Given the description of an element on the screen output the (x, y) to click on. 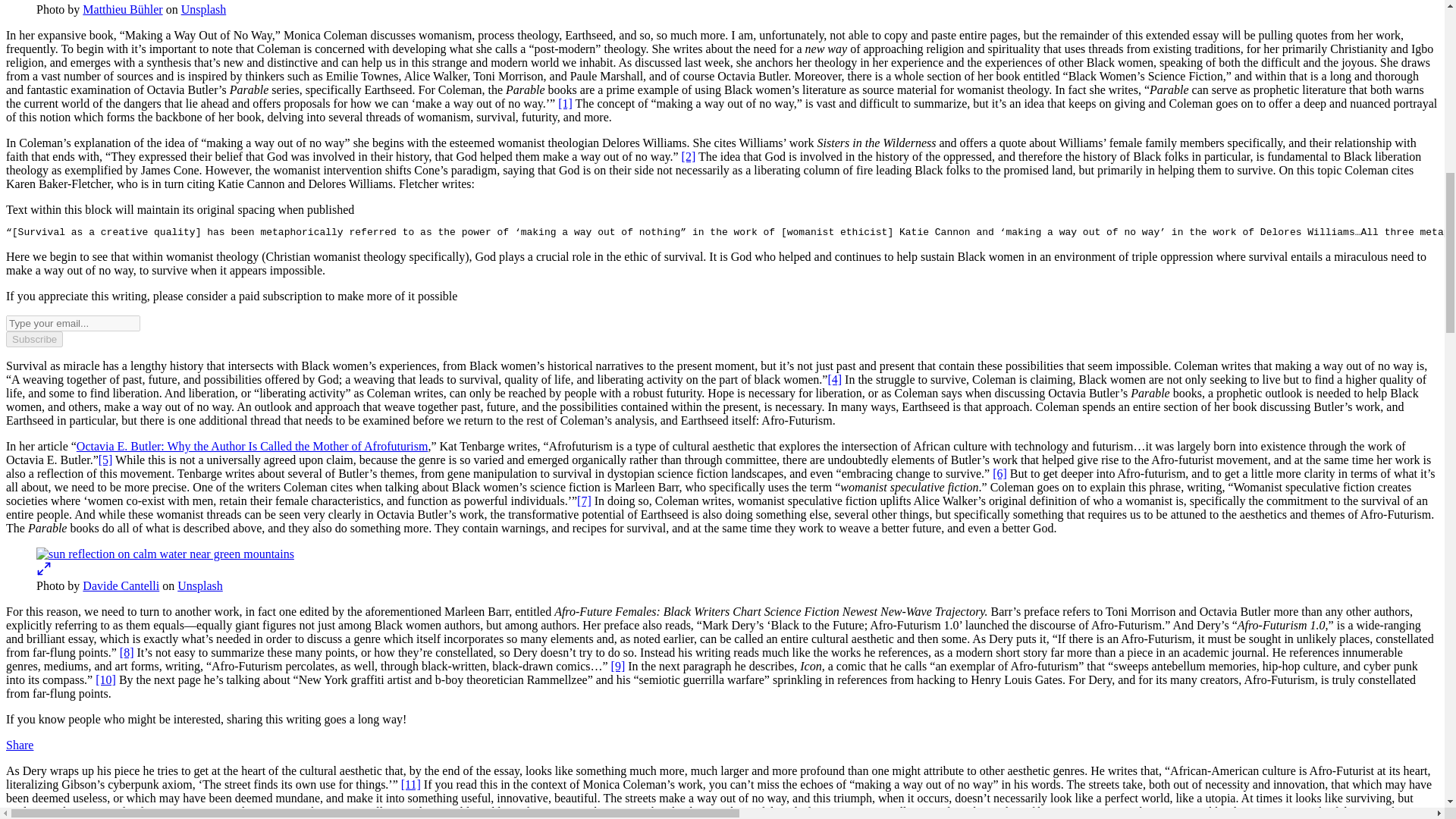
Unsplash (203, 9)
sun reflection on calm water near green mountains (165, 554)
Unsplash (199, 585)
Davide Cantelli (120, 585)
Subscribe (33, 339)
